Given the description of an element on the screen output the (x, y) to click on. 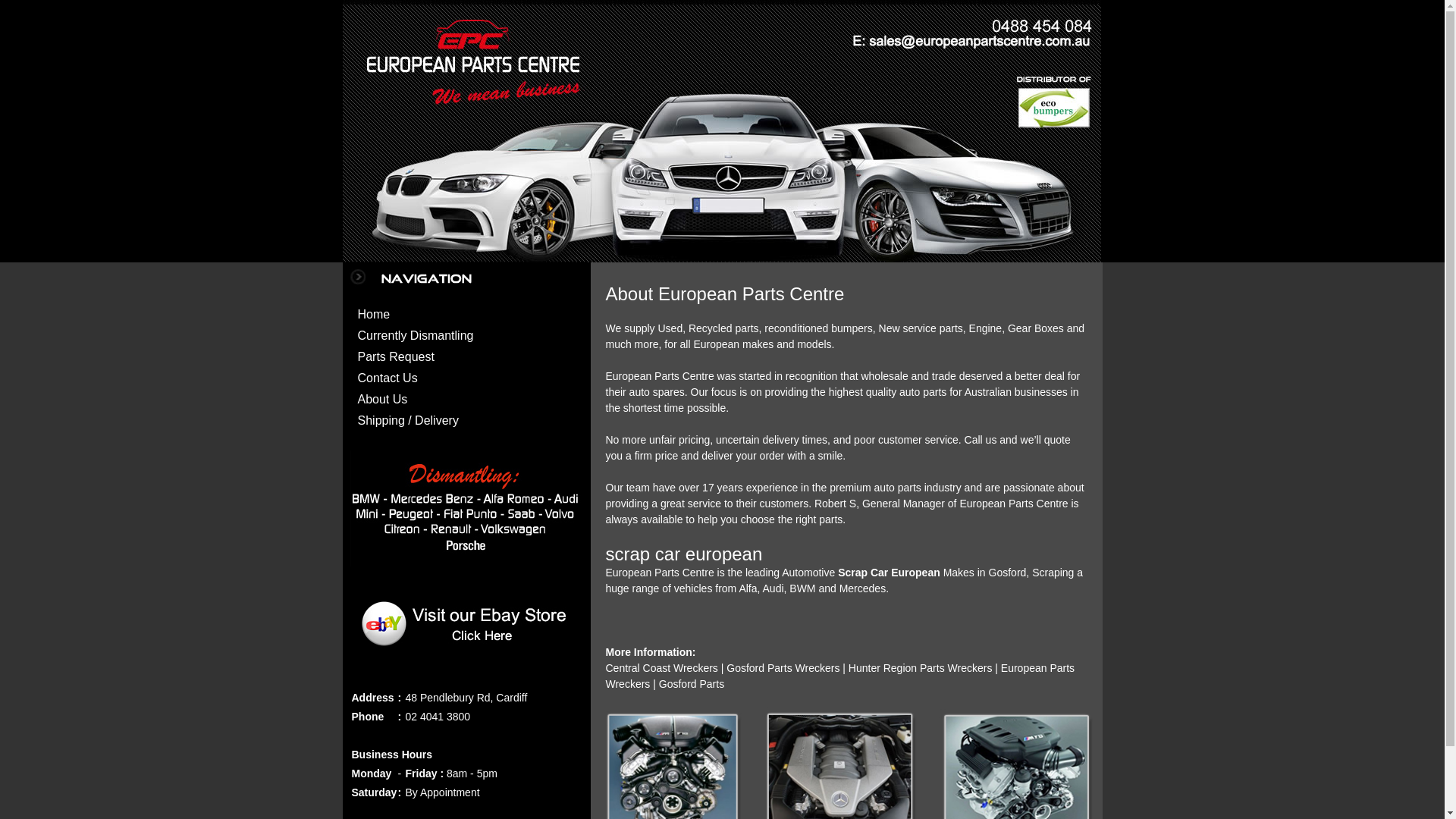
Home Element type: text (373, 313)
Scrap Car European Makes in Gosford Element type: text (931, 572)
About Us Element type: text (382, 398)
Gosford Parts Element type: text (691, 683)
Hunter Region Parts Wreckers Element type: text (918, 668)
European Parts Wreckers Element type: text (839, 676)
Parts Request Element type: text (395, 356)
Central Coast Wreckers Element type: text (661, 668)
Contact Us Element type: text (387, 377)
Currently Dismantling Element type: text (415, 335)
Shipping / Delivery Element type: text (407, 420)
Gosford Parts Wreckers Element type: text (782, 668)
